Given the description of an element on the screen output the (x, y) to click on. 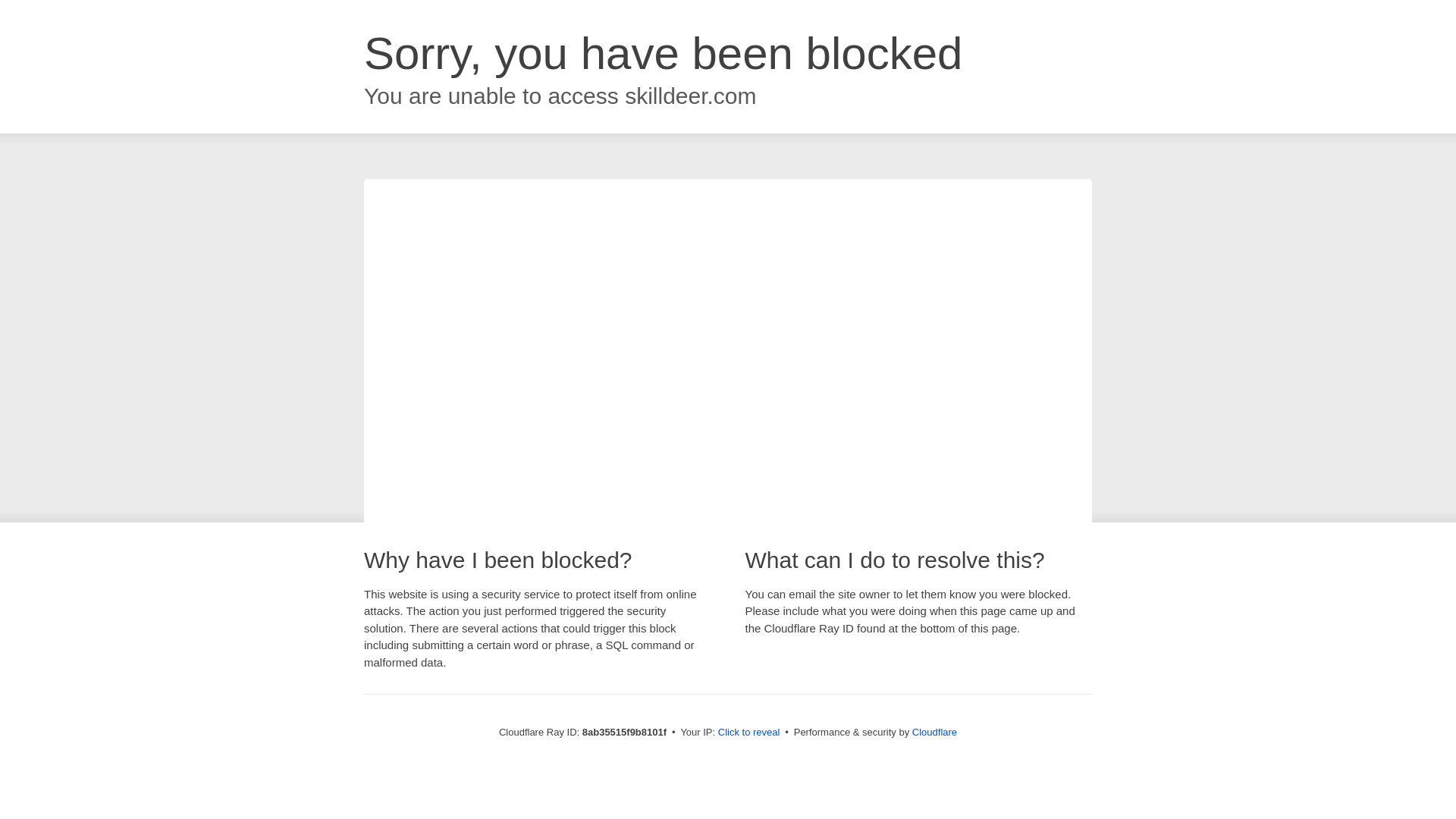
Cloudflare (934, 731)
Click to reveal (748, 732)
